Given the description of an element on the screen output the (x, y) to click on. 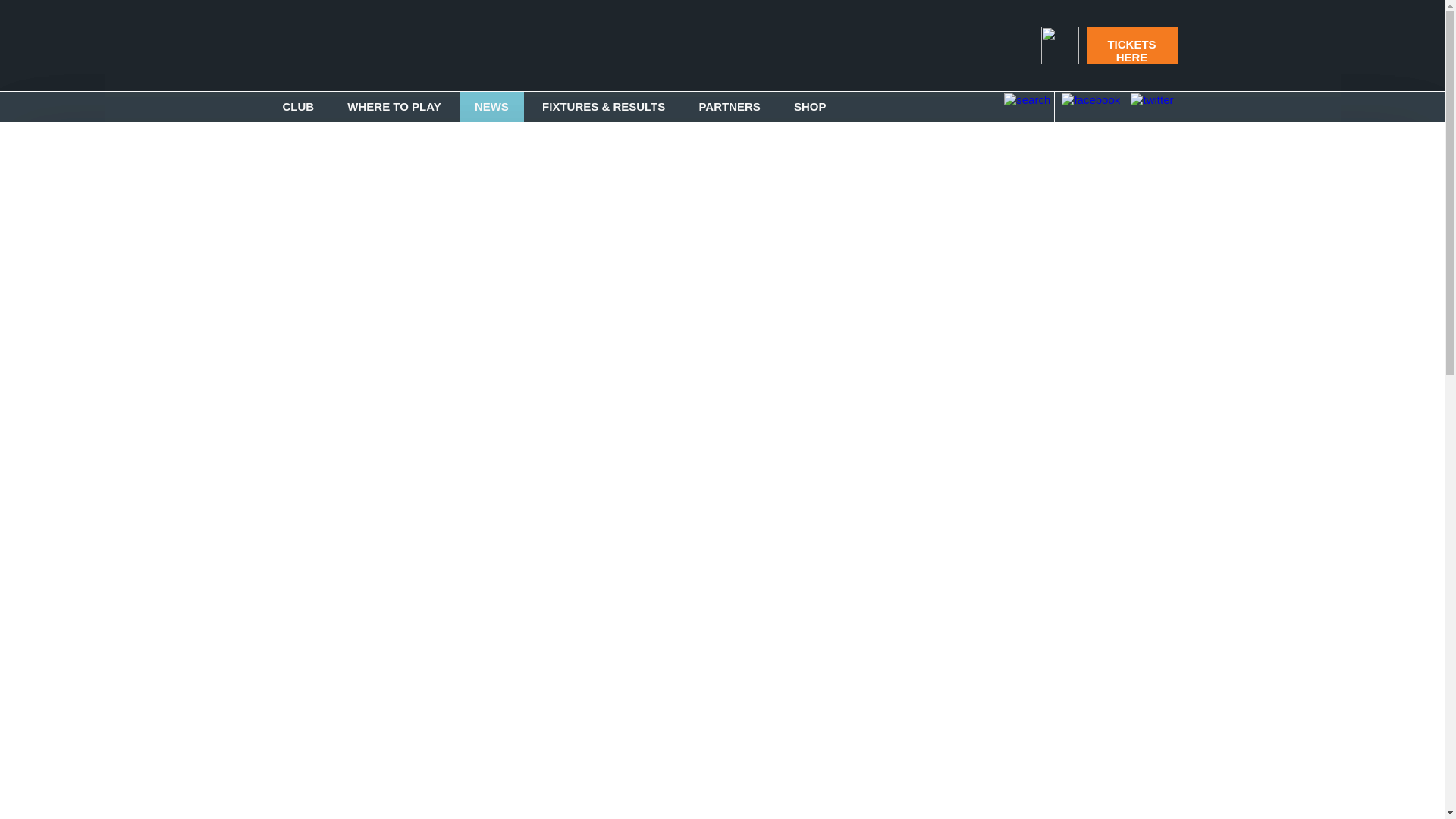
Academy (456, 181)
Scorchers Girls Only (587, 626)
British Basketball League (325, 188)
Basketball for All (456, 501)
PARTNERS (728, 106)
12-Week Coaching Course (587, 480)
Locations (325, 438)
British Basketball League Team (325, 275)
Coaching (587, 438)
Game Day (325, 307)
